Given the description of an element on the screen output the (x, y) to click on. 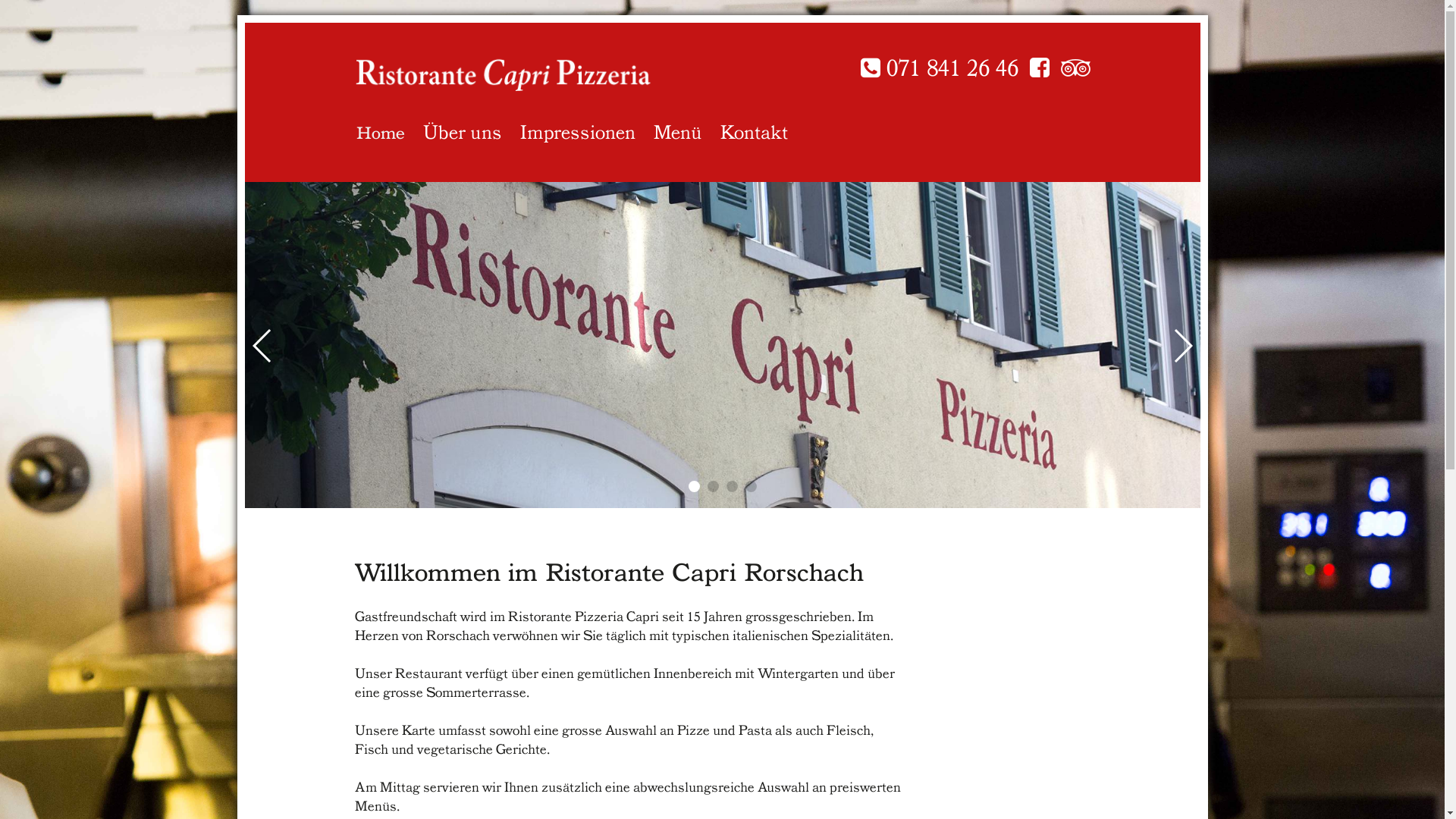
Ristorante Pizzeria Capri auf Tripadvisor Element type: hover (1074, 67)
Impressionen Element type: text (577, 128)
Home Element type: text (380, 128)
071 841 26 46 Element type: text (938, 67)
Kontakt Element type: text (754, 128)
Ristorante Pizzeria Capri auf Facebook Element type: hover (1039, 67)
